Given the description of an element on the screen output the (x, y) to click on. 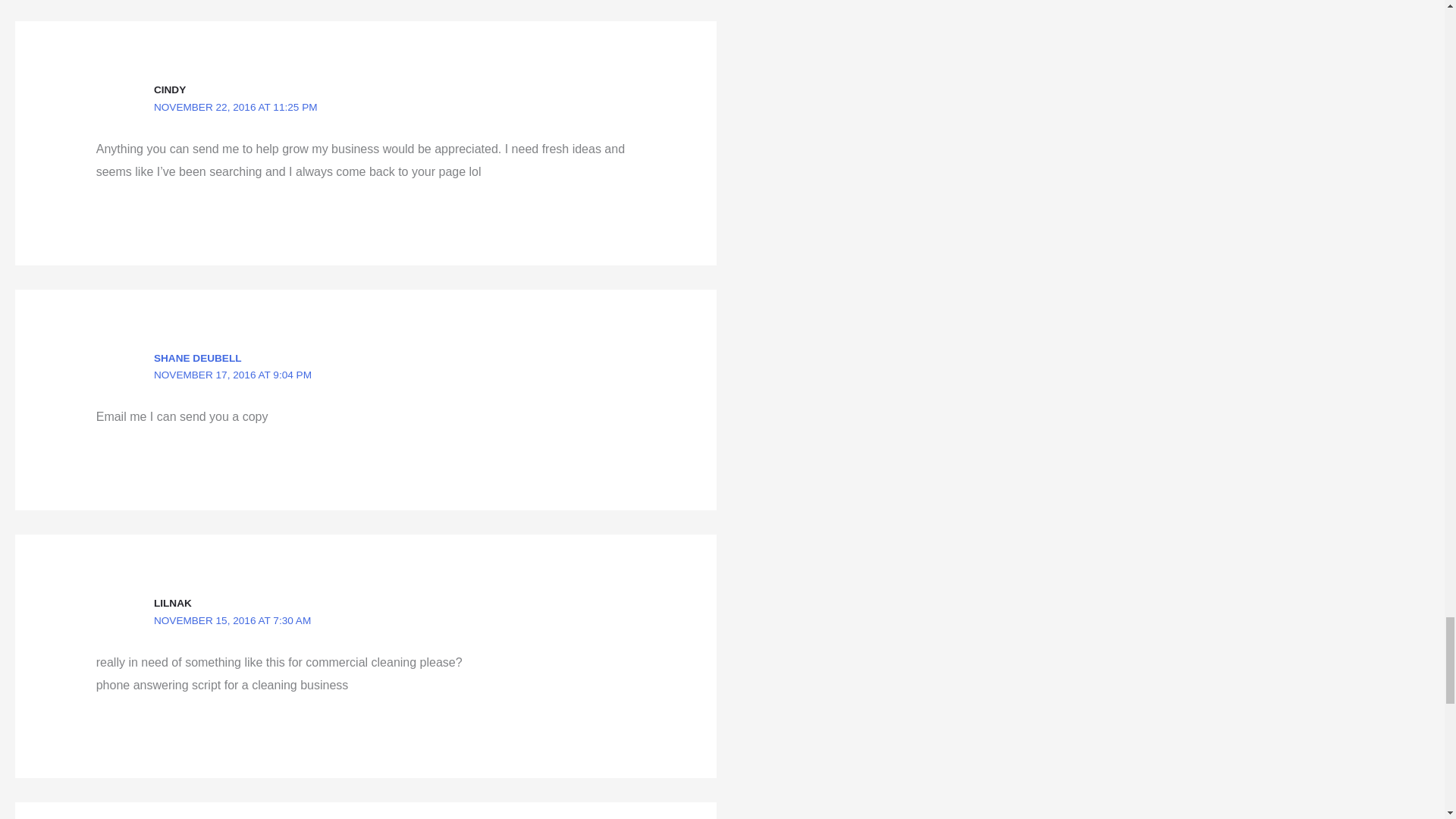
NOVEMBER 17, 2016 AT 9:04 PM (232, 374)
NOVEMBER 22, 2016 AT 11:25 PM (235, 107)
SHANE DEUBELL (197, 357)
NOVEMBER 15, 2016 AT 7:30 AM (232, 620)
